Given the description of an element on the screen output the (x, y) to click on. 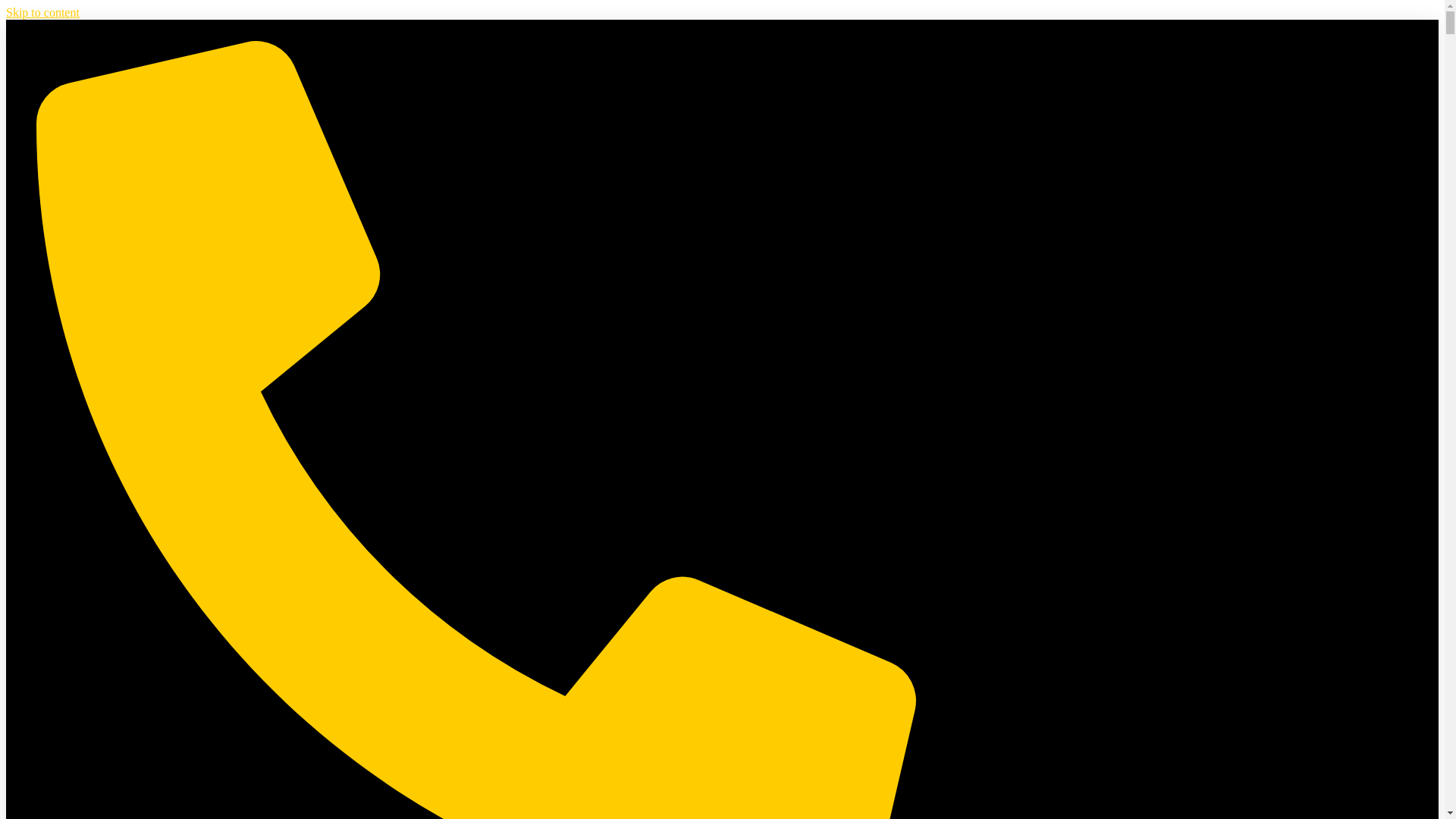
Skip to content (42, 11)
